Given the description of an element on the screen output the (x, y) to click on. 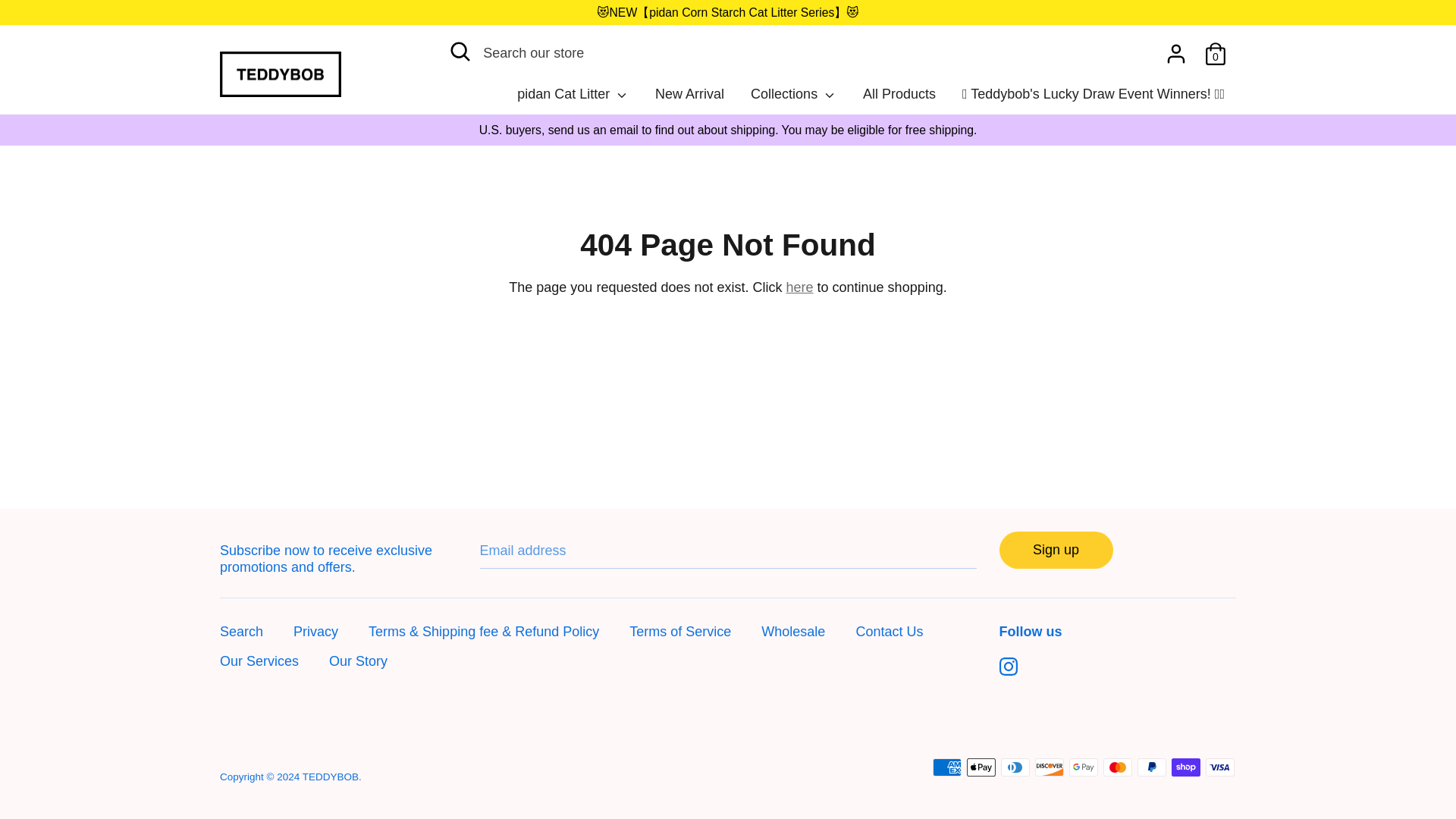
0 (1214, 48)
Diners Club (1015, 767)
American Express (946, 767)
Mastercard (1117, 767)
Google Pay (1082, 767)
Shop Pay (1185, 767)
Apple Pay (980, 767)
Visa (1219, 767)
PayPal (1151, 767)
Discover (1049, 767)
